Given the description of an element on the screen output the (x, y) to click on. 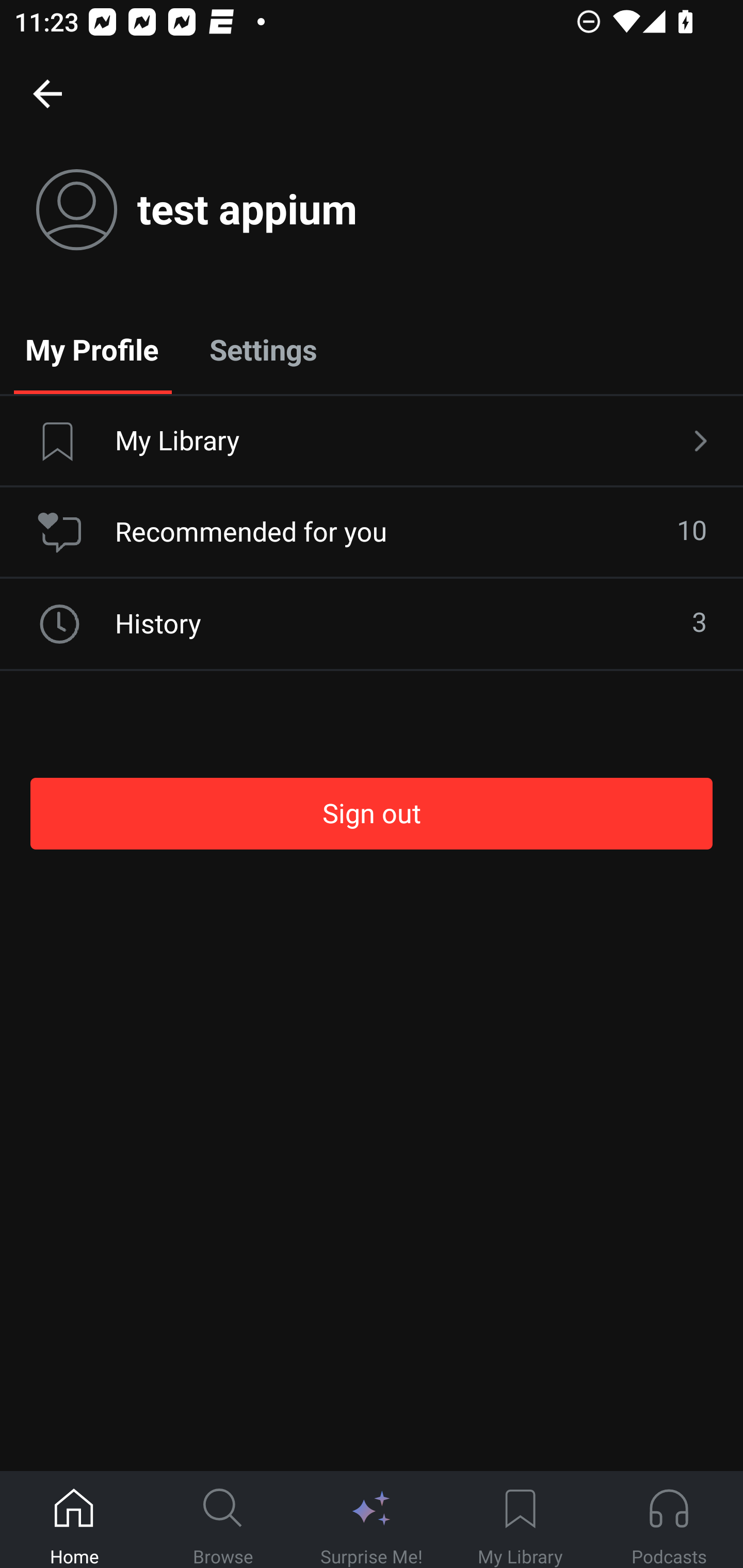
Home, back (47, 92)
My Profile (92, 348)
Settings (263, 348)
My Library (371, 441)
Recommended for you 10 (371, 532)
History 3 (371, 623)
Sign out (371, 813)
Home (74, 1520)
Browse (222, 1520)
Surprise Me! (371, 1520)
My Library (519, 1520)
Podcasts (668, 1520)
